Given the description of an element on the screen output the (x, y) to click on. 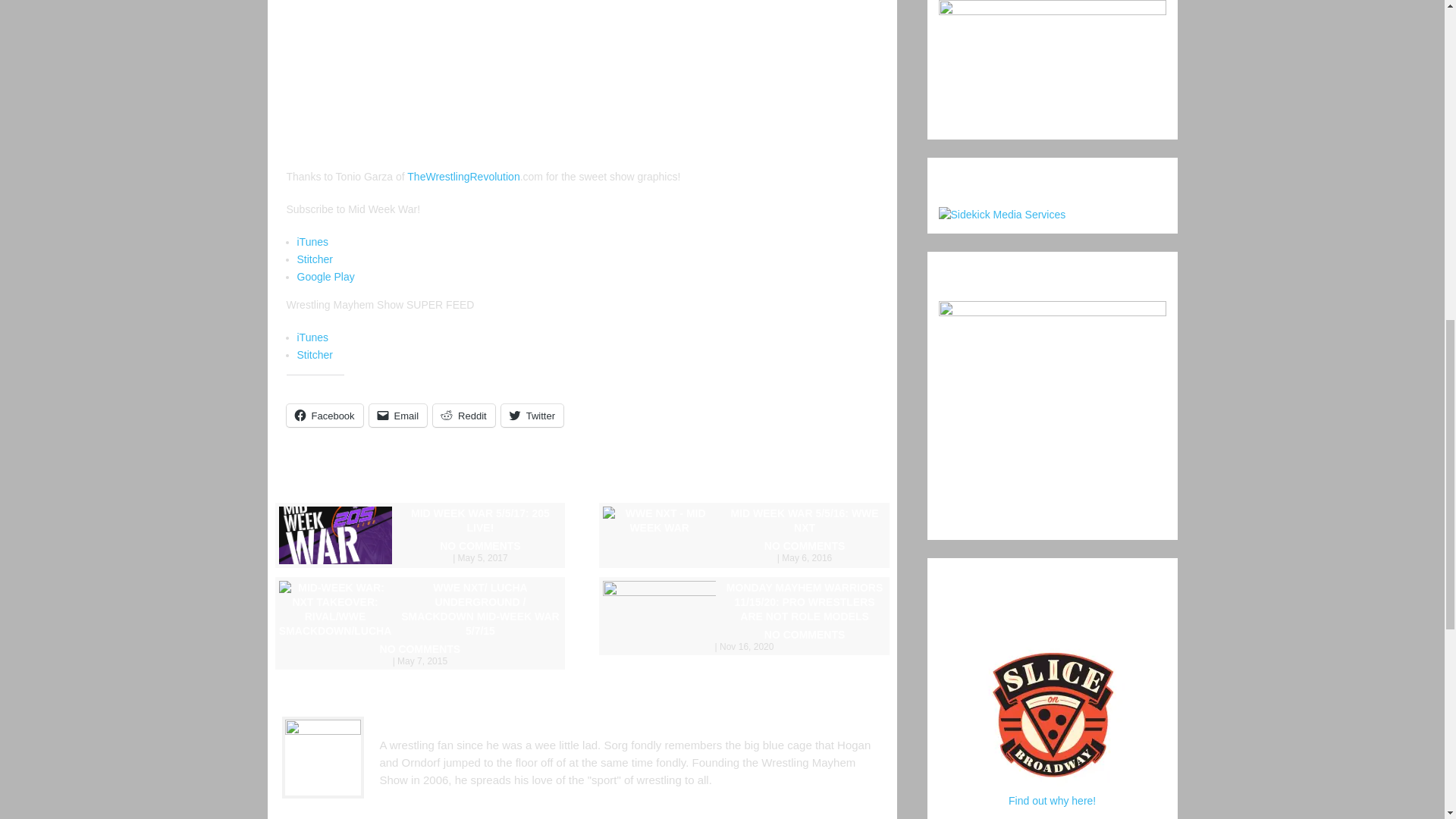
Facebook (324, 415)
Click to share on Facebook (324, 415)
iTunes (313, 337)
TheWrestlingRevolution (463, 176)
Click to email a link to a friend (398, 415)
NO COMMENTS (743, 550)
Stitcher (315, 354)
NO COMMENTS (420, 654)
iTunes (313, 241)
Click to share on Reddit (463, 415)
